Given the description of an element on the screen output the (x, y) to click on. 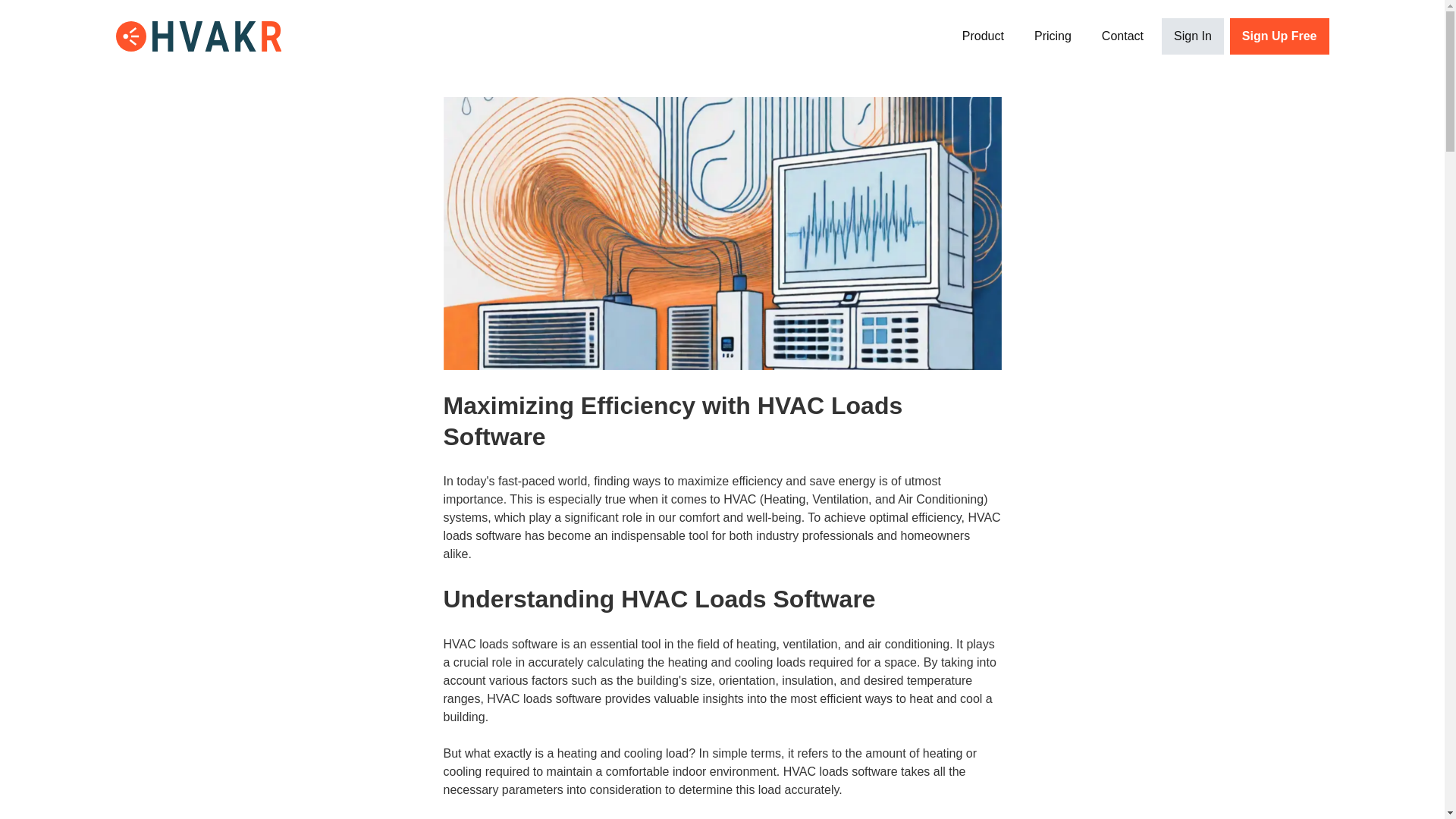
Sign Up Free (1279, 36)
Contact (1122, 36)
Product (983, 36)
Sign In (1192, 36)
Pricing (1052, 36)
